Given the description of an element on the screen output the (x, y) to click on. 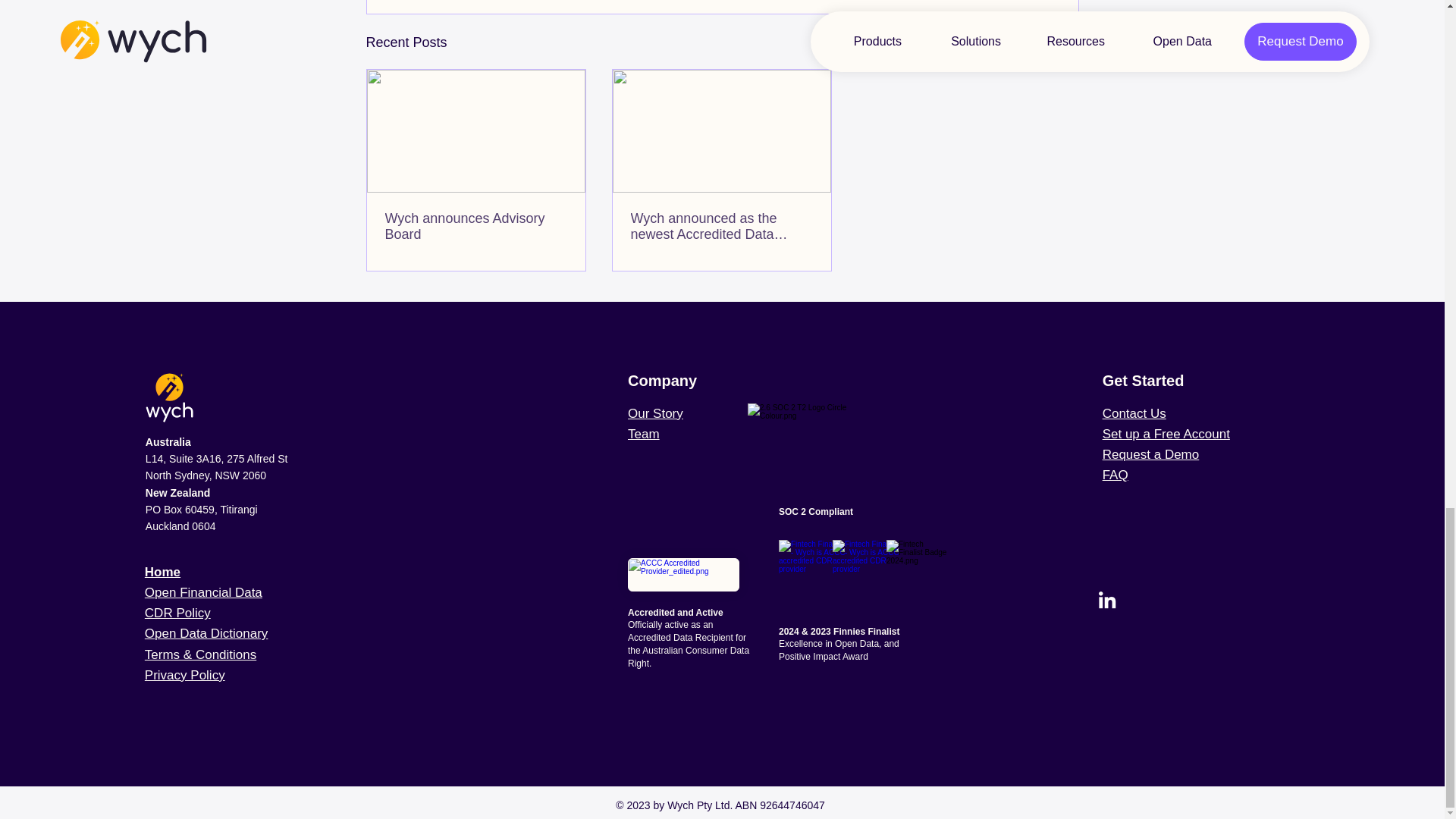
Wych announced as the newest Accredited Data Recipient (721, 226)
See All (1061, 42)
Contact Us (1134, 413)
Privacy Policy (184, 675)
Home (162, 572)
CDR Policy (177, 612)
Set up a Free Account (1166, 433)
Request a Demo (1150, 454)
Wych announces Advisory Board (476, 226)
Open Data Dictionary (205, 633)
